Given the description of an element on the screen output the (x, y) to click on. 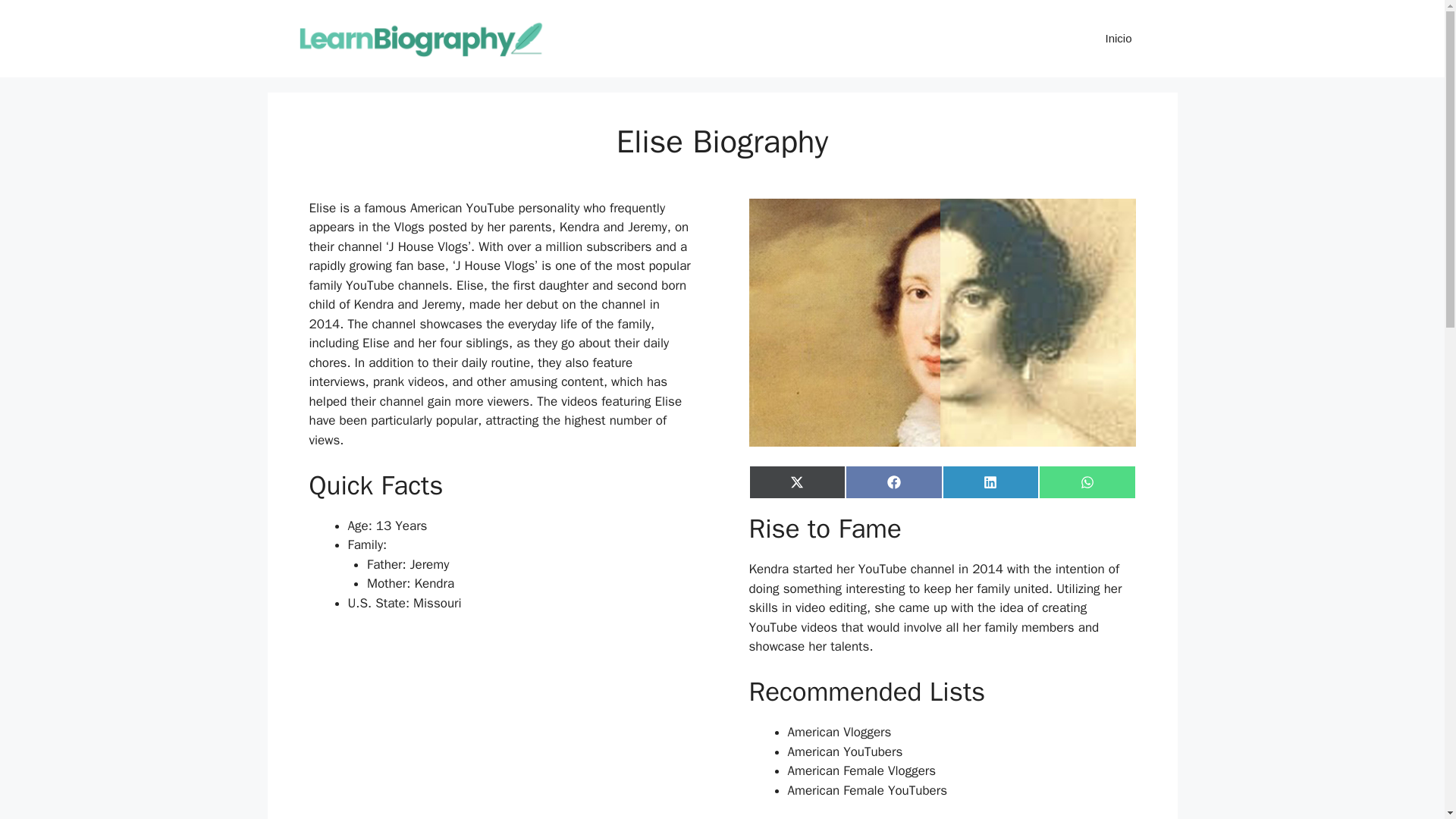
Inicio (1118, 38)
Share on LinkedIn (990, 482)
Share on Facebook (893, 482)
Share on WhatsApp (1087, 482)
YouTube video player (501, 725)
